Given the description of an element on the screen output the (x, y) to click on. 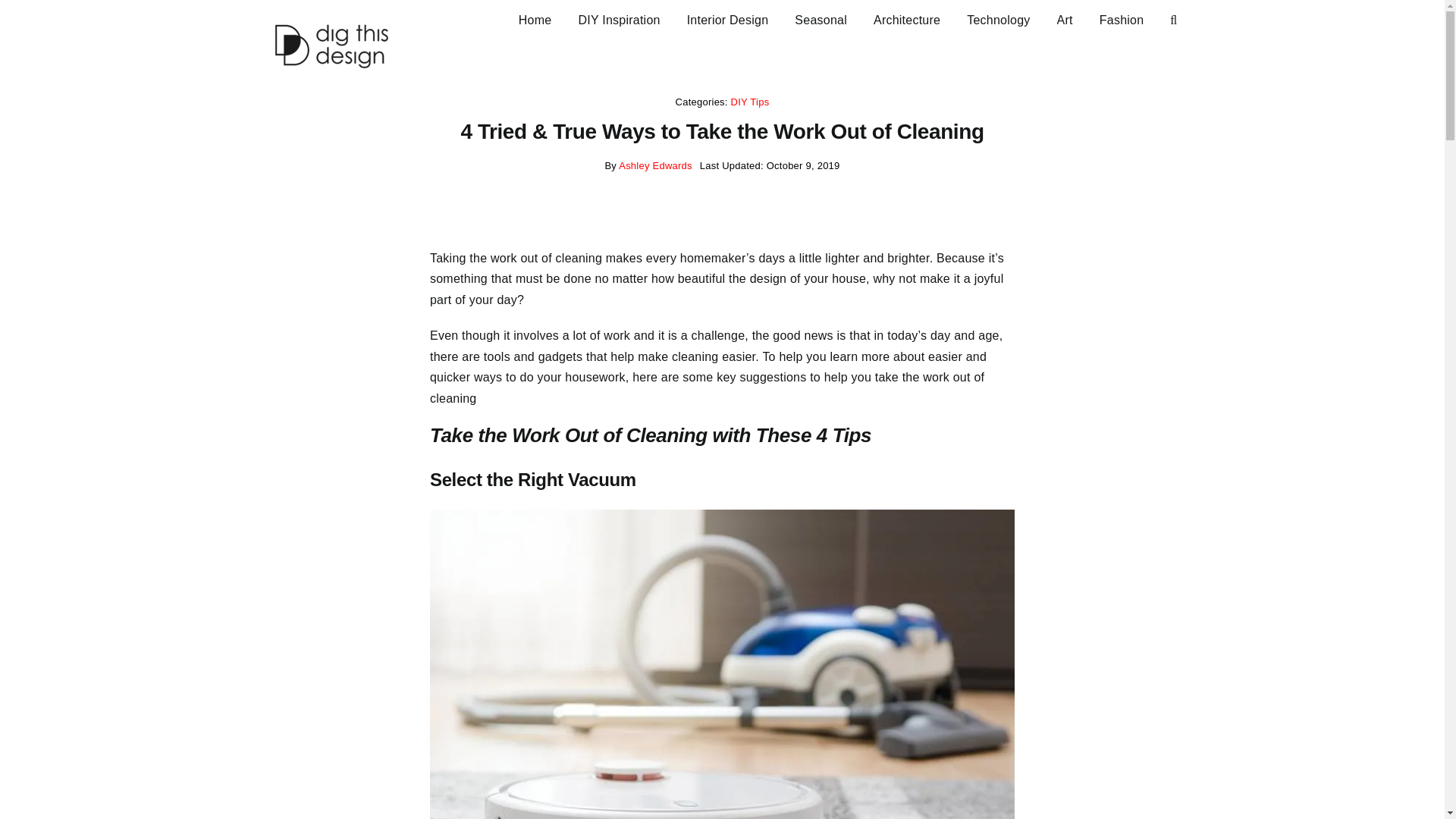
DIY Inspiration (618, 18)
Interior Design (727, 18)
Seasonal (820, 18)
interior-design (727, 18)
Architecture (906, 18)
diy-inspiration (618, 18)
